Given the description of an element on the screen output the (x, y) to click on. 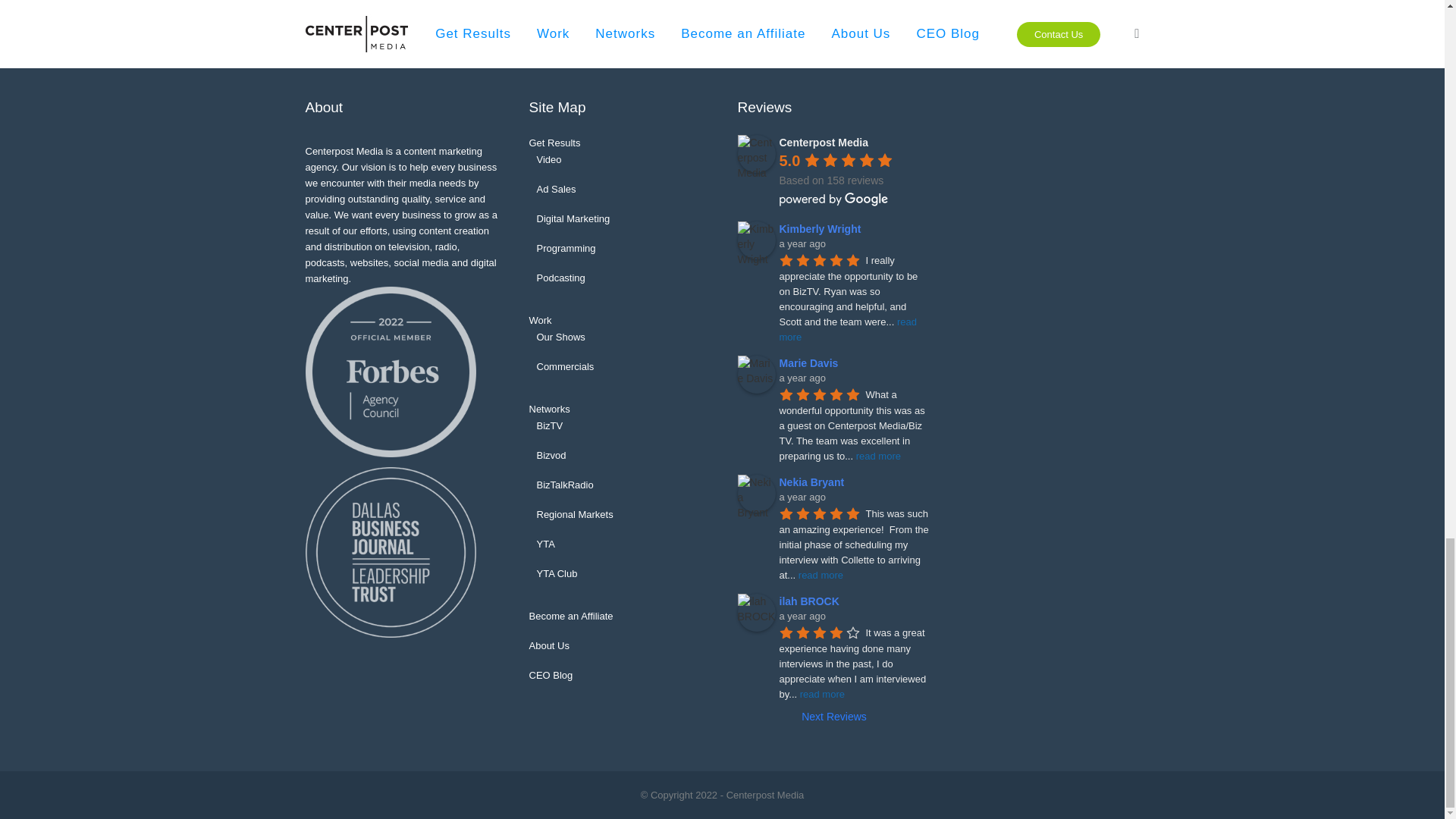
Nekia Bryant (755, 493)
Kimberly Wright (755, 240)
Marie Davis (755, 374)
powered by Google (833, 199)
ilah BROCK (755, 612)
Centerpost Media (755, 153)
